Given the description of an element on the screen output the (x, y) to click on. 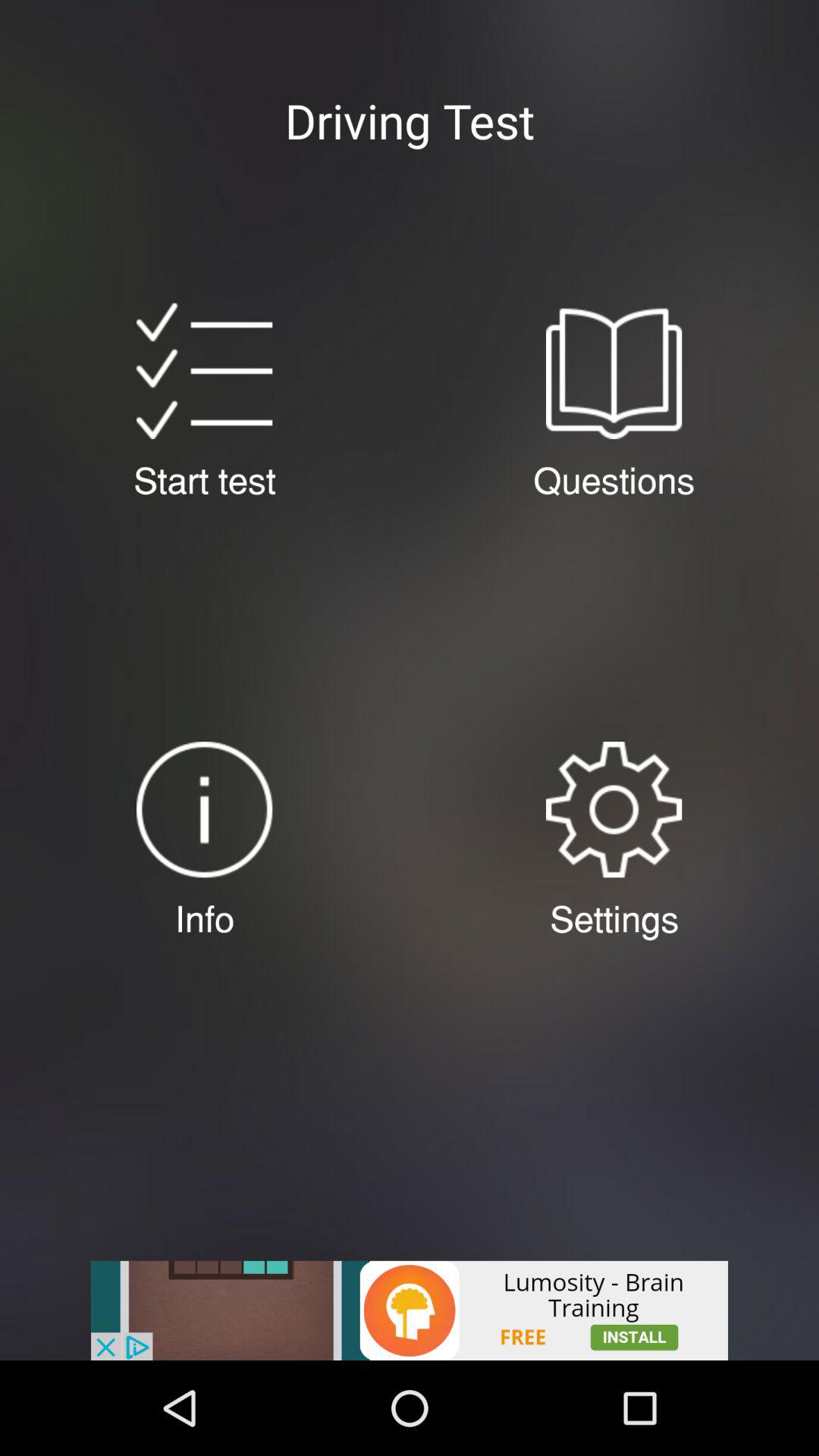
view information (204, 809)
